Given the description of an element on the screen output the (x, y) to click on. 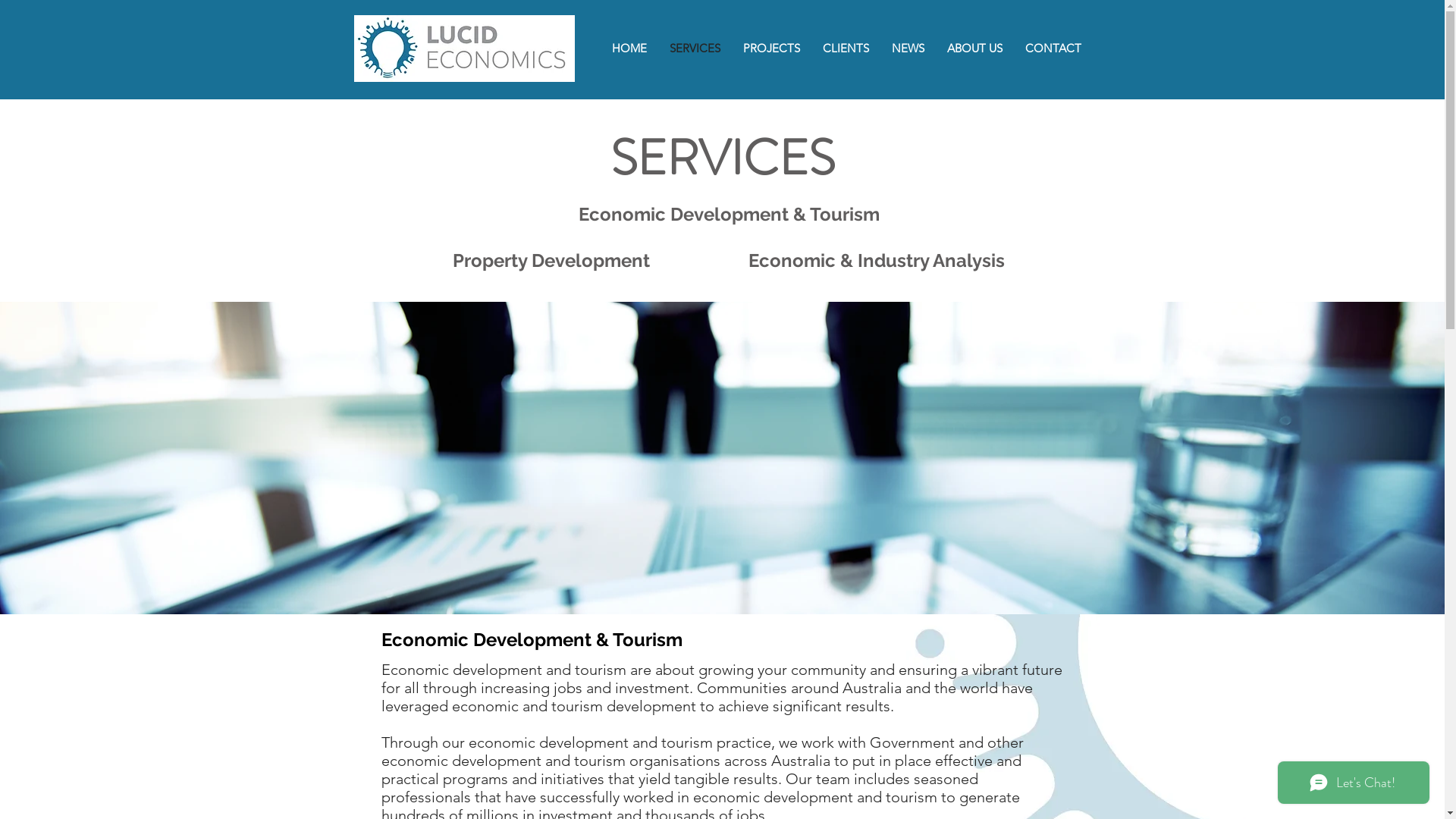
CLIENTS Element type: text (845, 47)
NEWS Element type: text (907, 47)
HOME Element type: text (629, 47)
ABOUT US Element type: text (974, 47)
PROJECTS Element type: text (770, 47)
SERVICES Element type: text (694, 47)
Economic & Industry Analysis Element type: text (875, 259)
Economic Development & Tourism Element type: text (728, 214)
Property Development Element type: text (562, 259)
CONTACT Element type: text (1052, 47)
